Given the description of an element on the screen output the (x, y) to click on. 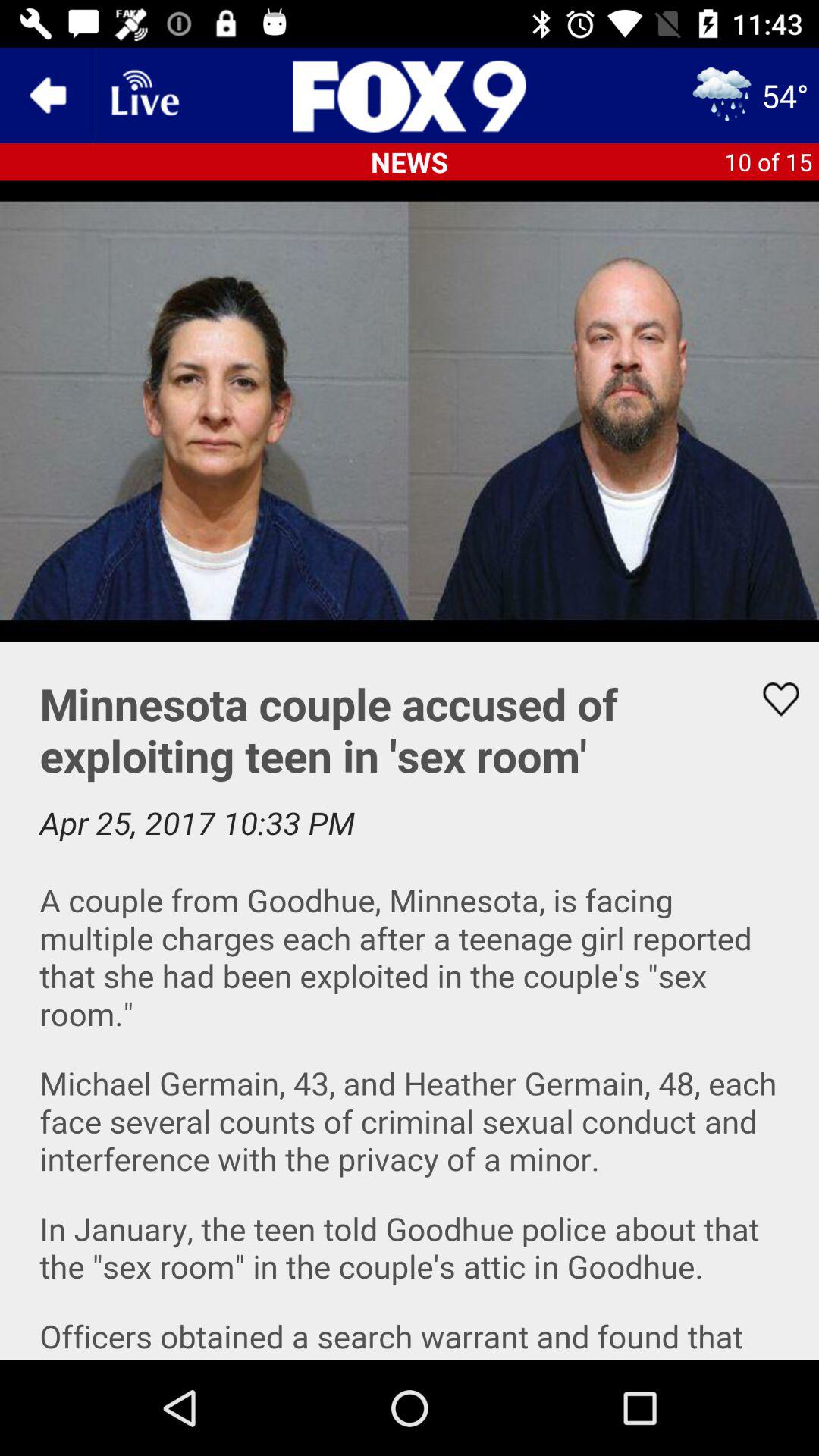
go back (47, 95)
